Given the description of an element on the screen output the (x, y) to click on. 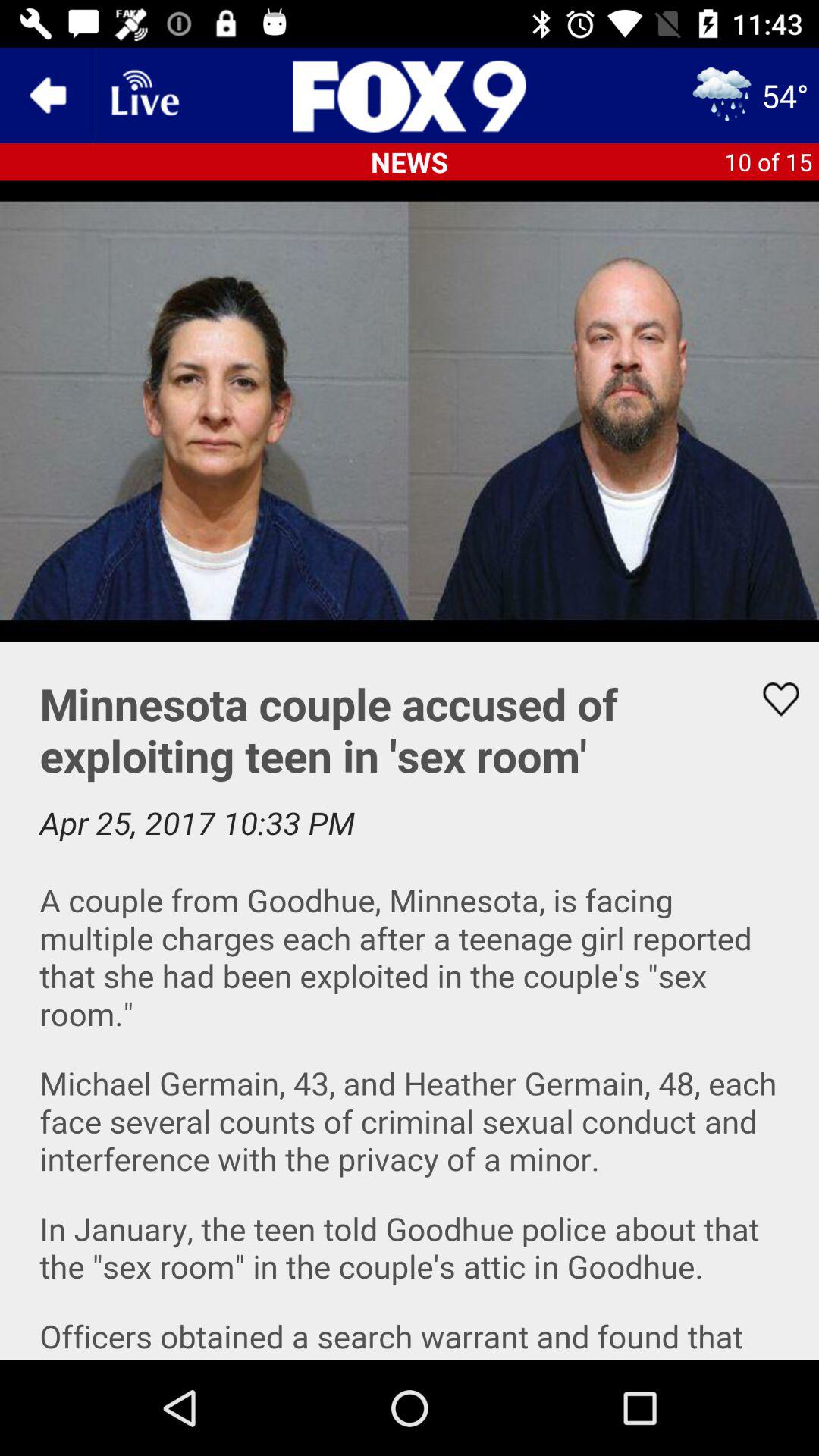
go back (47, 95)
